Given the description of an element on the screen output the (x, y) to click on. 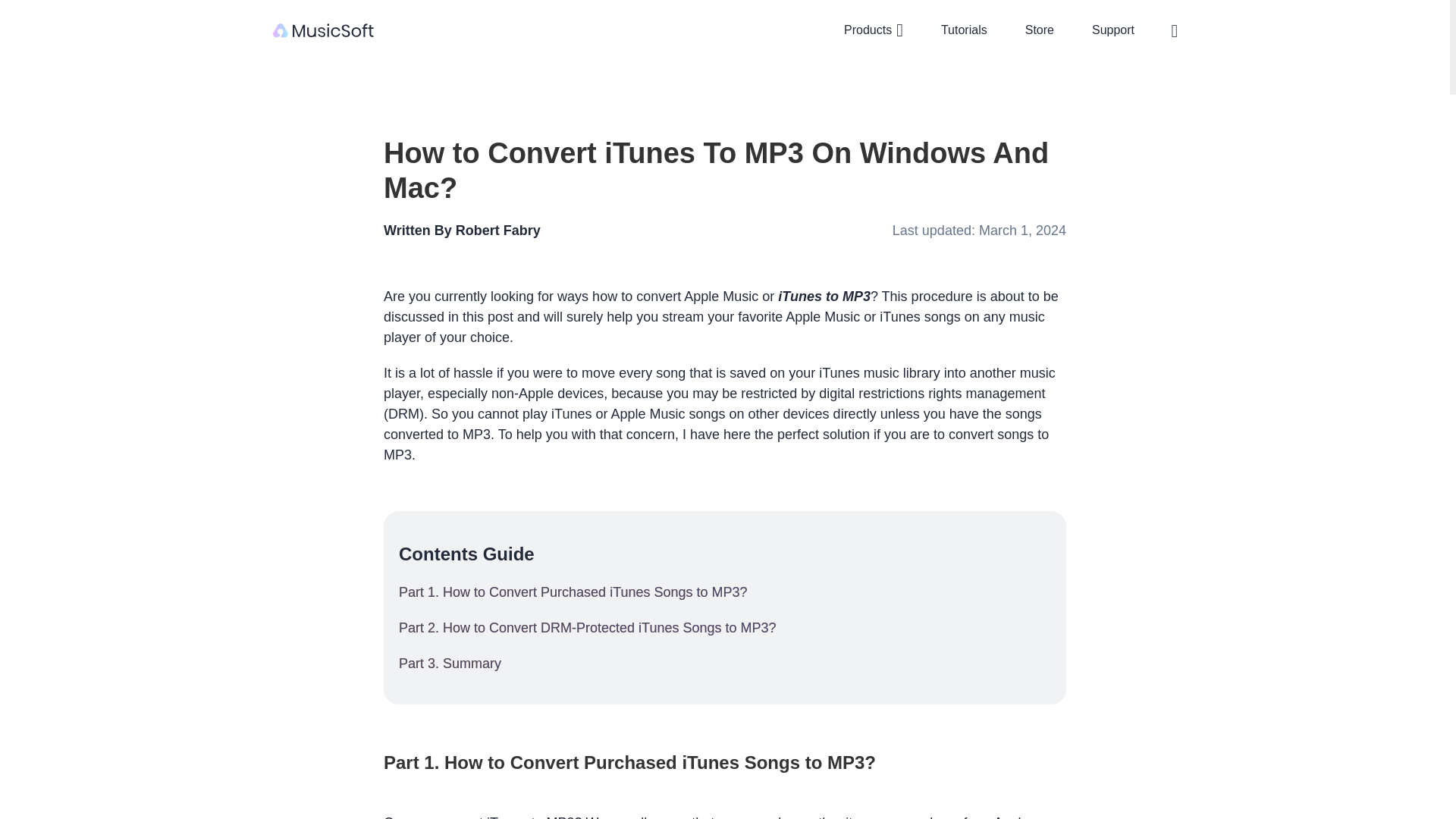
Part 2. How to Convert DRM-Protected iTunes Songs to MP3? (724, 628)
Part 2. How to Convert DRM-Protected iTunes Songs to MP3? (724, 628)
Support (1113, 29)
Tutorials (964, 29)
Store (1039, 29)
Part 3. Summary (724, 663)
Part 3. Summary (724, 663)
Part 1. How to Convert Purchased iTunes Songs to MP3? (724, 592)
Part 1. How to Convert Purchased iTunes Songs to MP3? (724, 592)
